Given the description of an element on the screen output the (x, y) to click on. 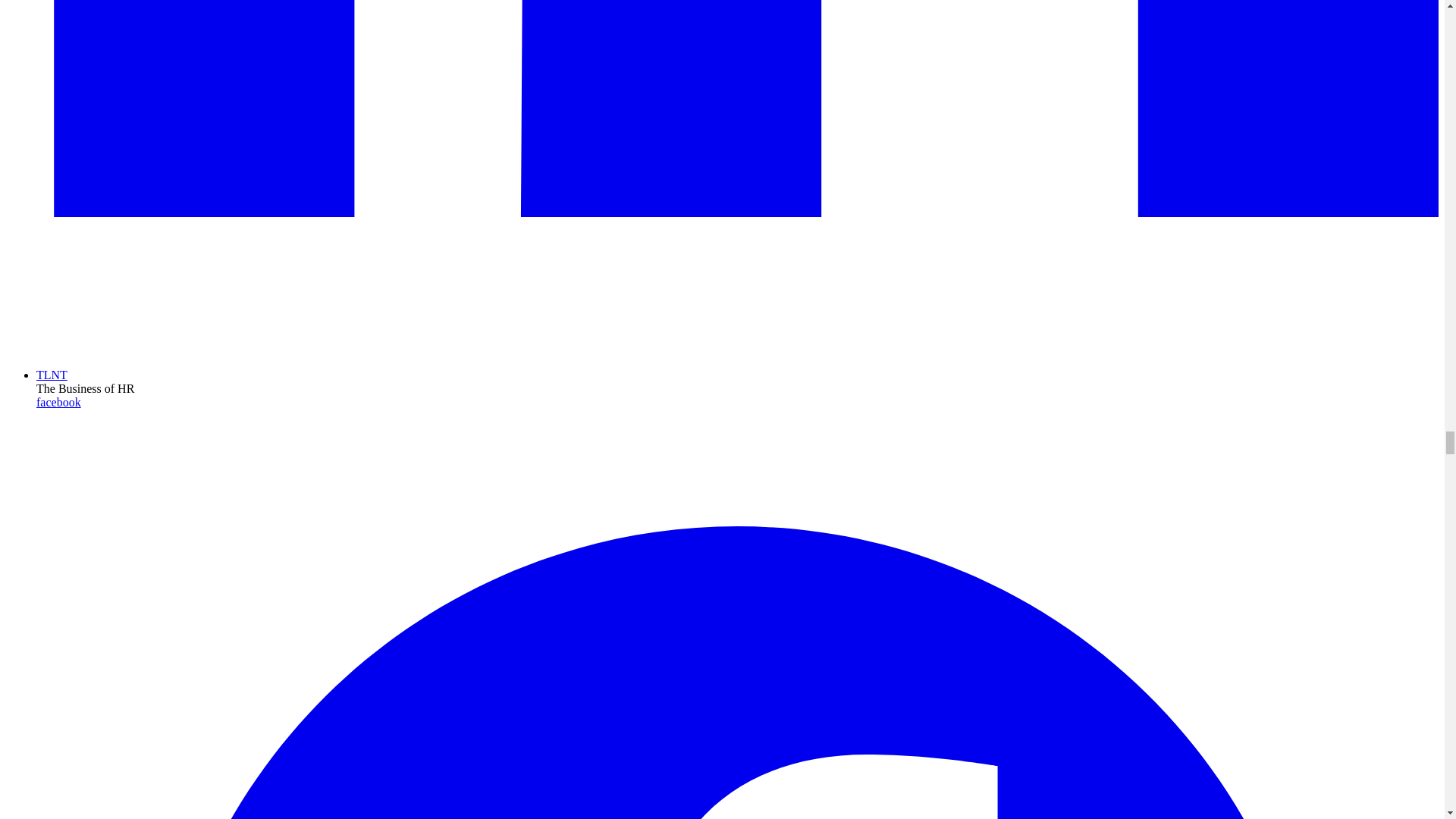
TLNT (51, 374)
